Given the description of an element on the screen output the (x, y) to click on. 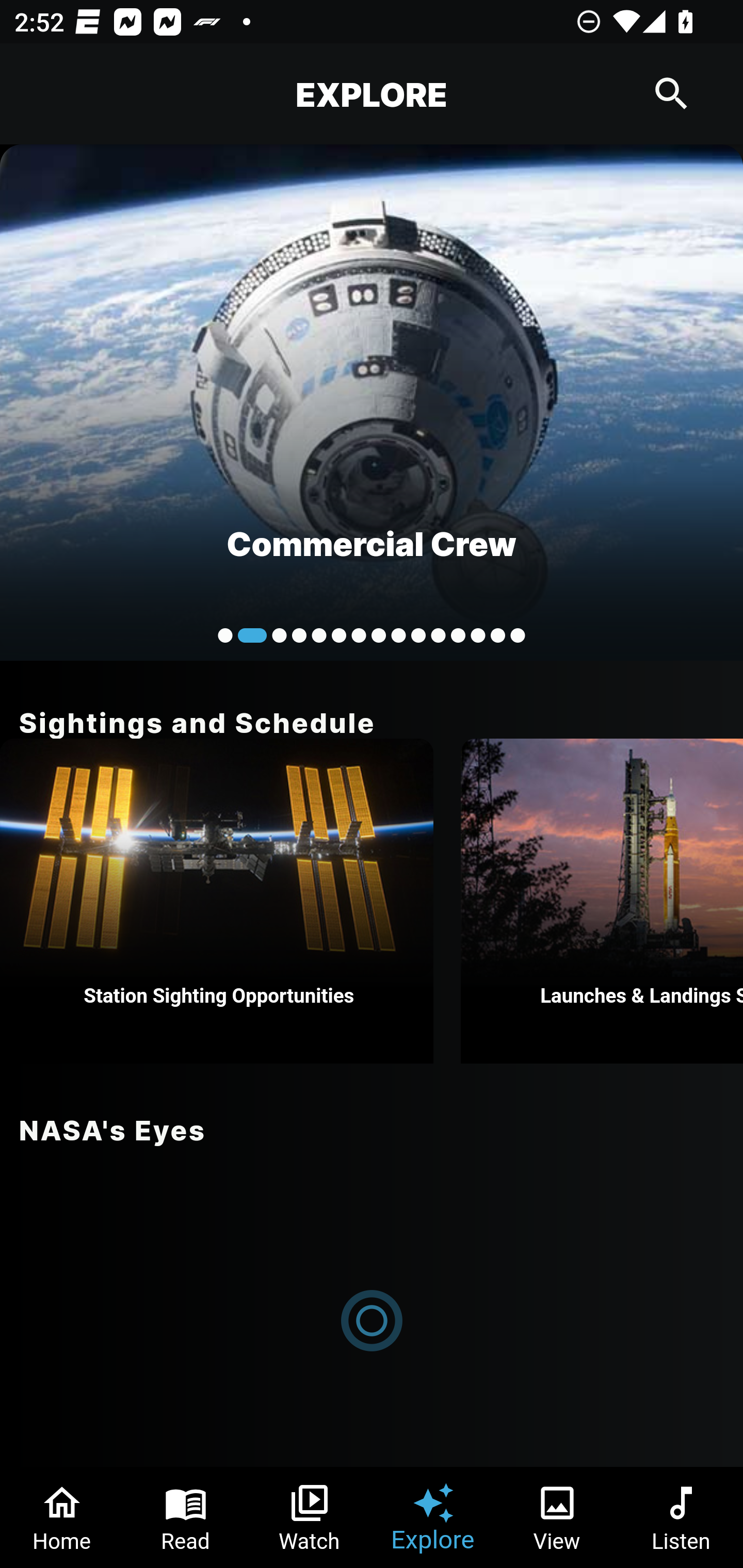
Commercial Crew
Hello World (371, 402)
Station Sighting Opportunities (216, 900)
Launches & Landings Schedule (601, 900)
Home
Tab 1 of 6 (62, 1517)
Read
Tab 2 of 6 (185, 1517)
Watch
Tab 3 of 6 (309, 1517)
Explore
Tab 4 of 6 (433, 1517)
View
Tab 5 of 6 (556, 1517)
Listen
Tab 6 of 6 (680, 1517)
